Given the description of an element on the screen output the (x, y) to click on. 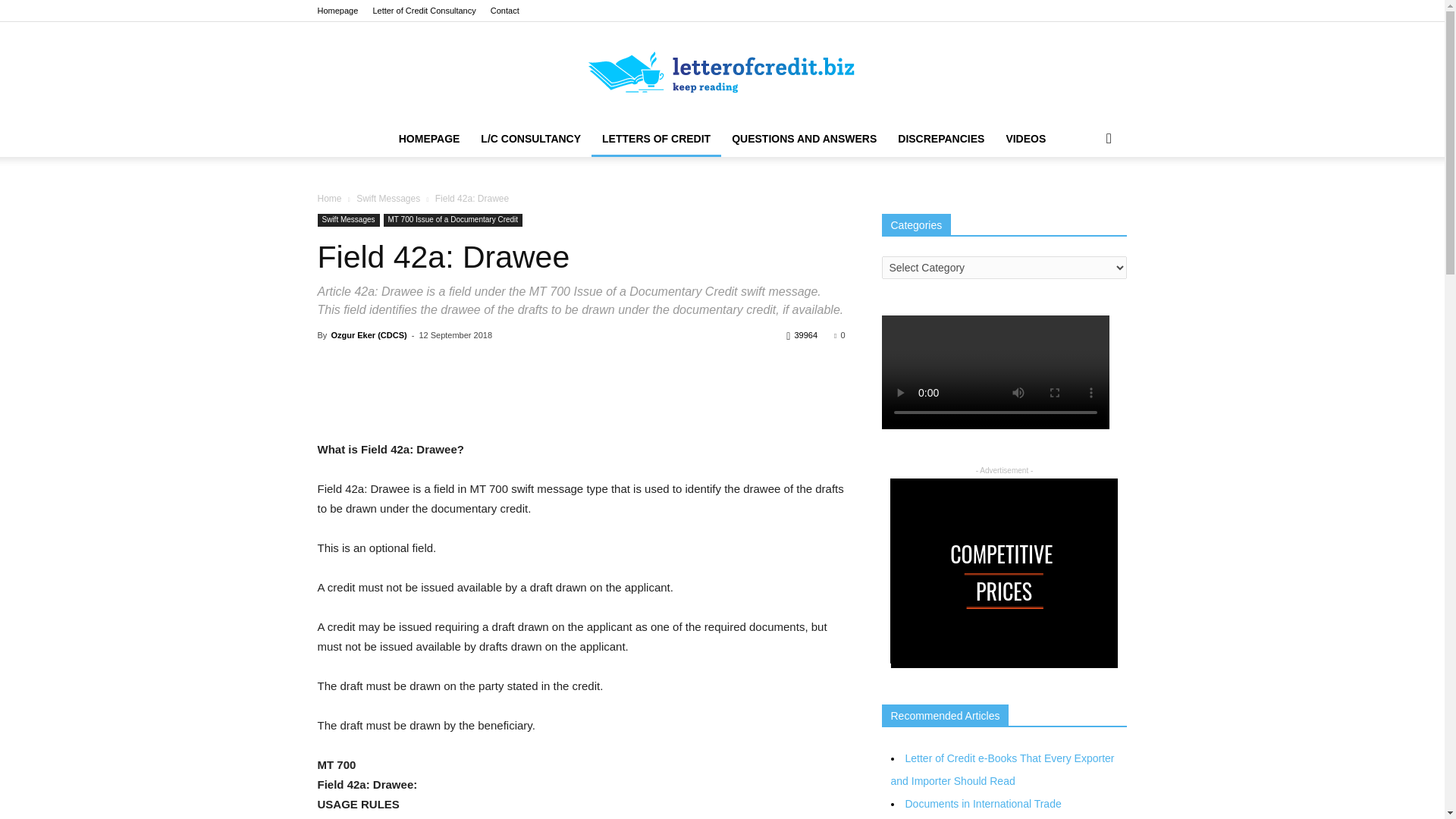
View all posts in Swift Messages (388, 198)
